Given the description of an element on the screen output the (x, y) to click on. 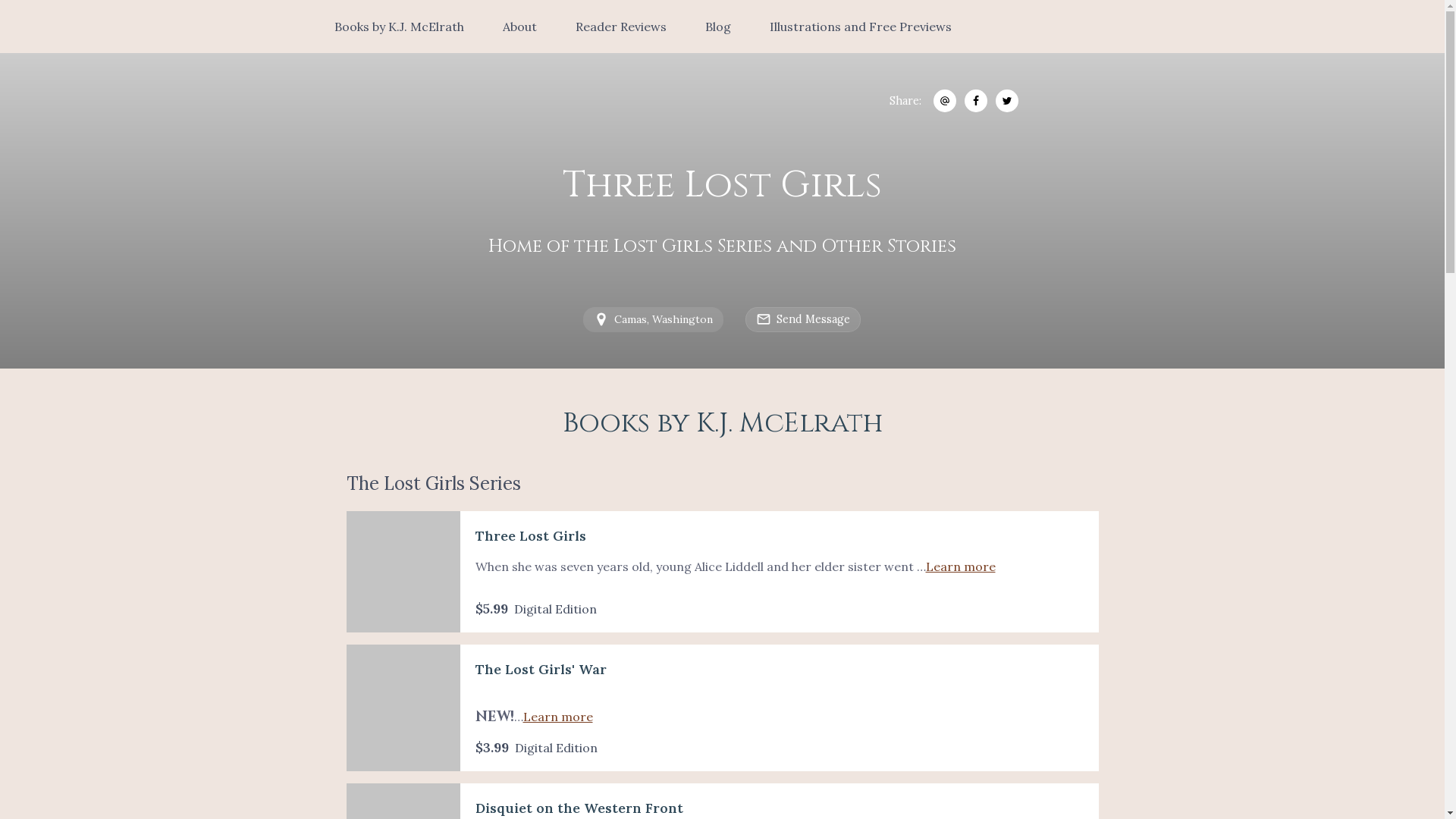
Blog Element type: text (718, 26)
Camas, Washington Element type: text (653, 319)
About Element type: text (519, 26)
Illustrations and Free Previews Element type: text (860, 26)
Books by K.J. McElrath Element type: text (398, 26)
Reader Reviews Element type: text (620, 26)
Send Message Element type: text (803, 319)
